Given the description of an element on the screen output the (x, y) to click on. 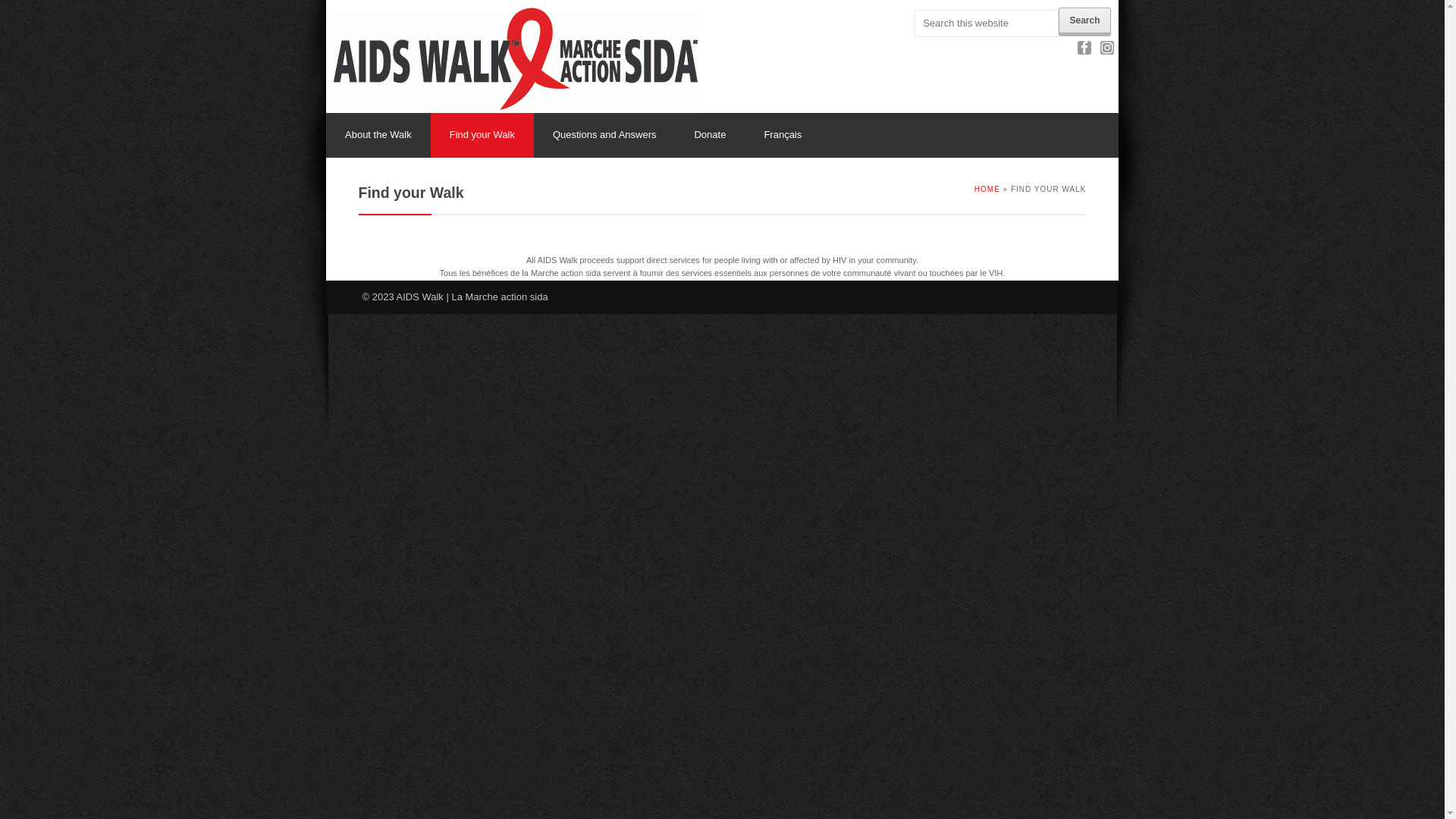
Skip to primary navigation Element type: text (326, 0)
Find your Walk Element type: text (481, 135)
Donate Element type: text (709, 135)
About the Walk Element type: text (378, 135)
Questions and Answers Element type: text (604, 135)
HOME Element type: text (987, 189)
Search Element type: text (1084, 20)
AIDS WALK Element type: text (515, 58)
